Given the description of an element on the screen output the (x, y) to click on. 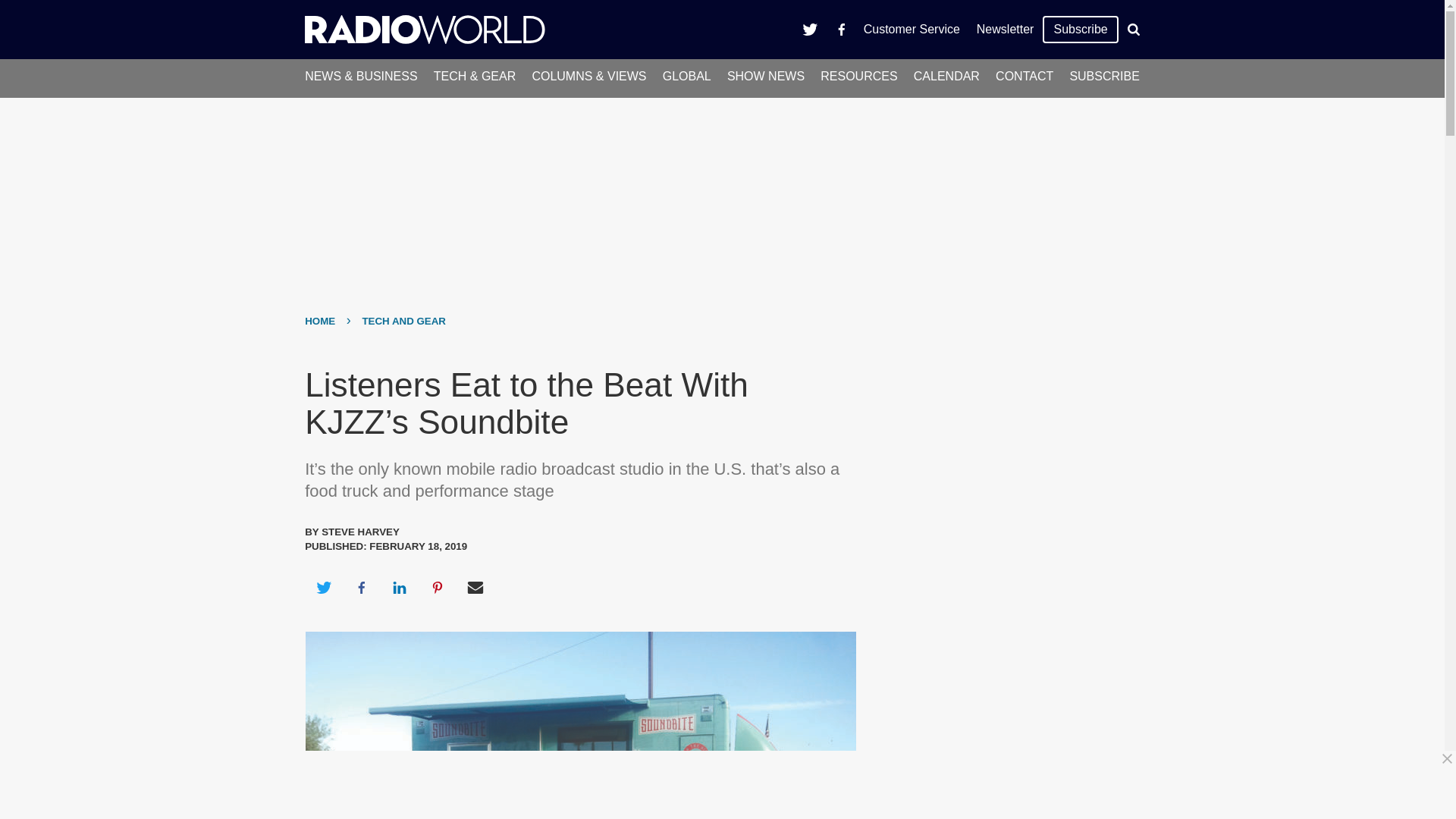
Share via Email (476, 587)
Newsletter (1005, 29)
Share on Facebook (361, 587)
Share on LinkedIn (399, 587)
Share on Twitter (323, 587)
Advertisement (1005, 667)
Customer Service (912, 29)
Advertisement (727, 785)
Share on Pinterest (438, 587)
